Given the description of an element on the screen output the (x, y) to click on. 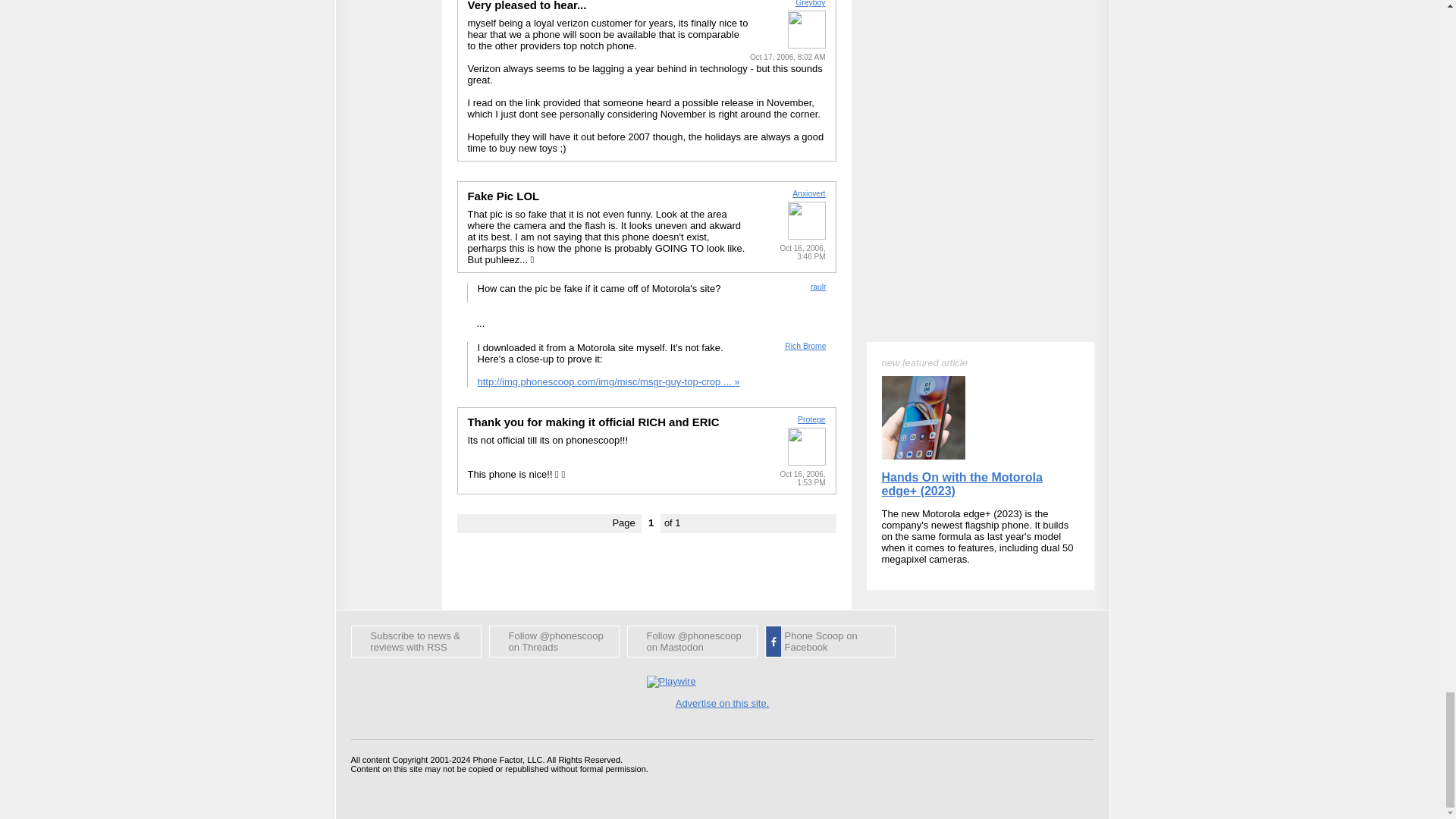
Phone Scoop - Latest News (415, 641)
